Given the description of an element on the screen output the (x, y) to click on. 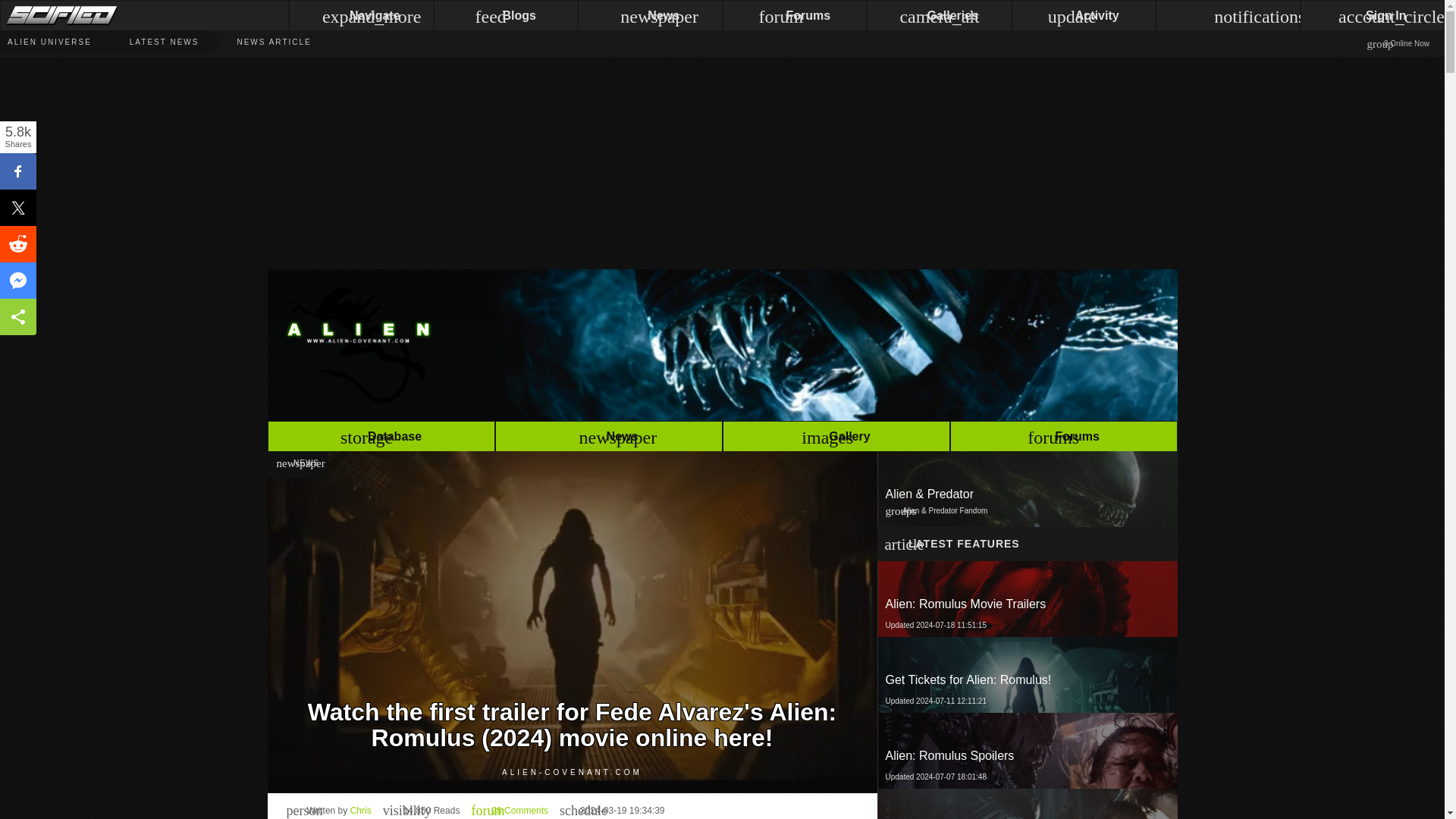
Alien Movie and TV Series News (1026, 750)
Add A Comment (1026, 674)
Alien Movie Universe Info Database (721, 344)
Database (509, 810)
News (380, 438)
News (380, 438)
NEWS ARTICLE (254, 42)
28 Comments (608, 438)
Advertisement (254, 42)
Forums (509, 810)
LATEST NEWS (1062, 438)
